Given the description of an element on the screen output the (x, y) to click on. 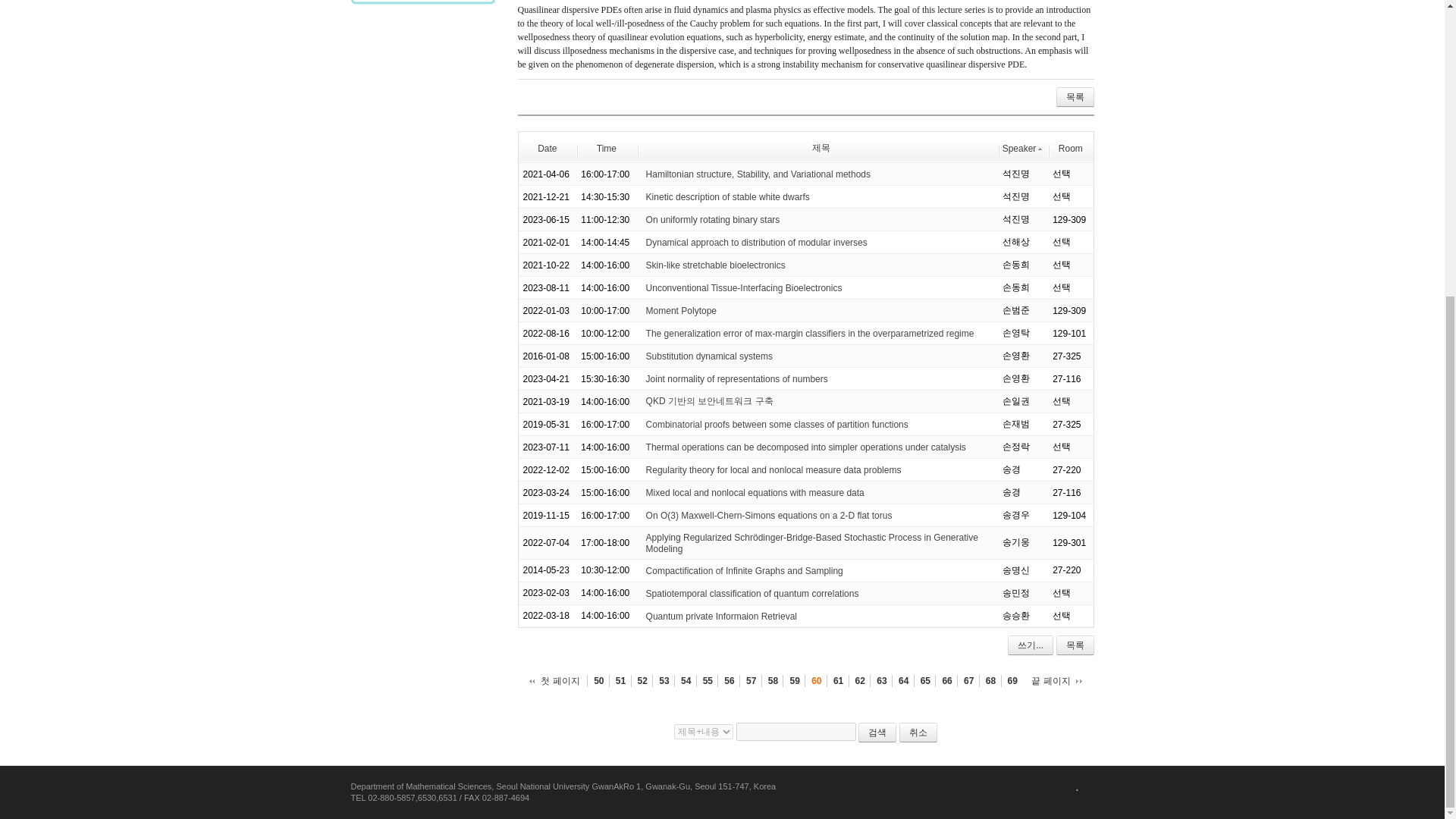
Time (605, 147)
Hamiltonian structure, Stability, and Variational methods (758, 173)
Kinetic description of stable white dwarfs (727, 196)
Room (1070, 147)
Speaker (1023, 147)
Date (546, 147)
On uniformly rotating binary stars (713, 219)
